Given the description of an element on the screen output the (x, y) to click on. 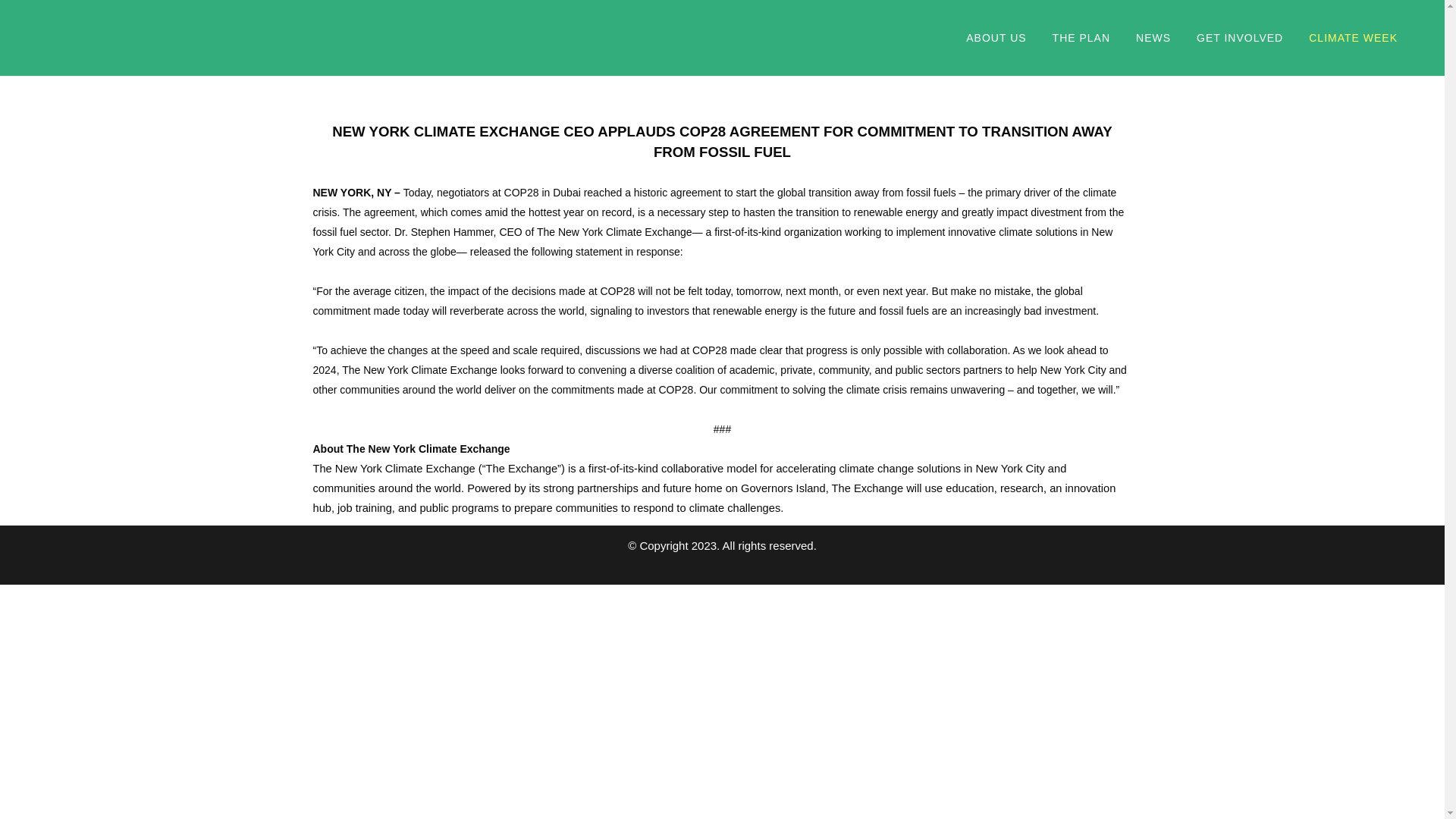
GET INVOLVED (1239, 38)
CLIMATE WEEK (1352, 38)
ABOUT US (996, 38)
THE PLAN (1080, 38)
